Given the description of an element on the screen output the (x, y) to click on. 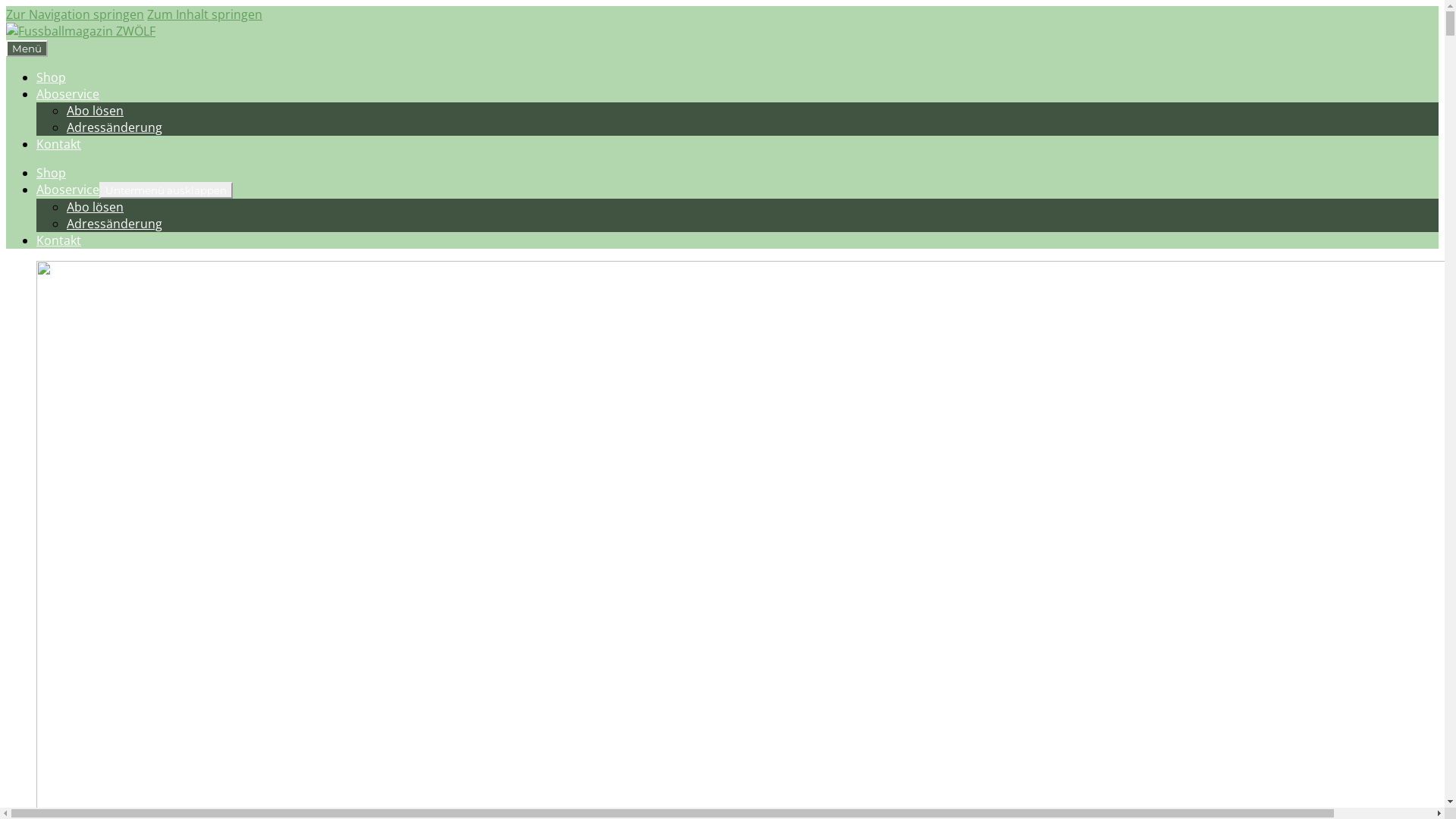
Aboservice Element type: text (67, 189)
Shop Element type: text (50, 77)
Kontakt Element type: text (58, 240)
Aboservice Element type: text (67, 93)
Zum Inhalt springen Element type: text (204, 14)
Shop Element type: text (50, 172)
Zur Navigation springen Element type: text (75, 14)
Kontakt Element type: text (58, 143)
